Given the description of an element on the screen output the (x, y) to click on. 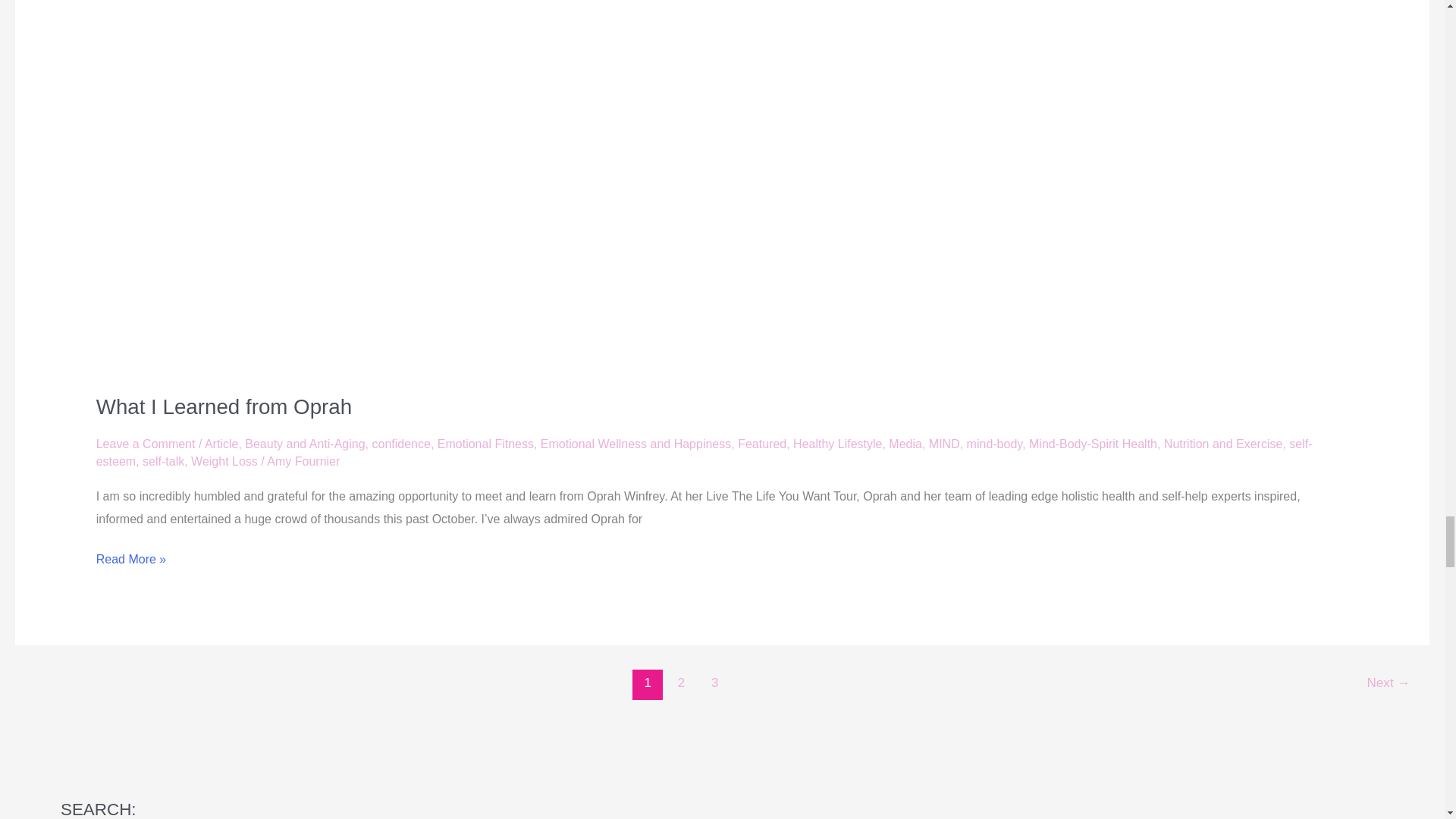
View all posts by Amy Fournier (302, 461)
